Given the description of an element on the screen output the (x, y) to click on. 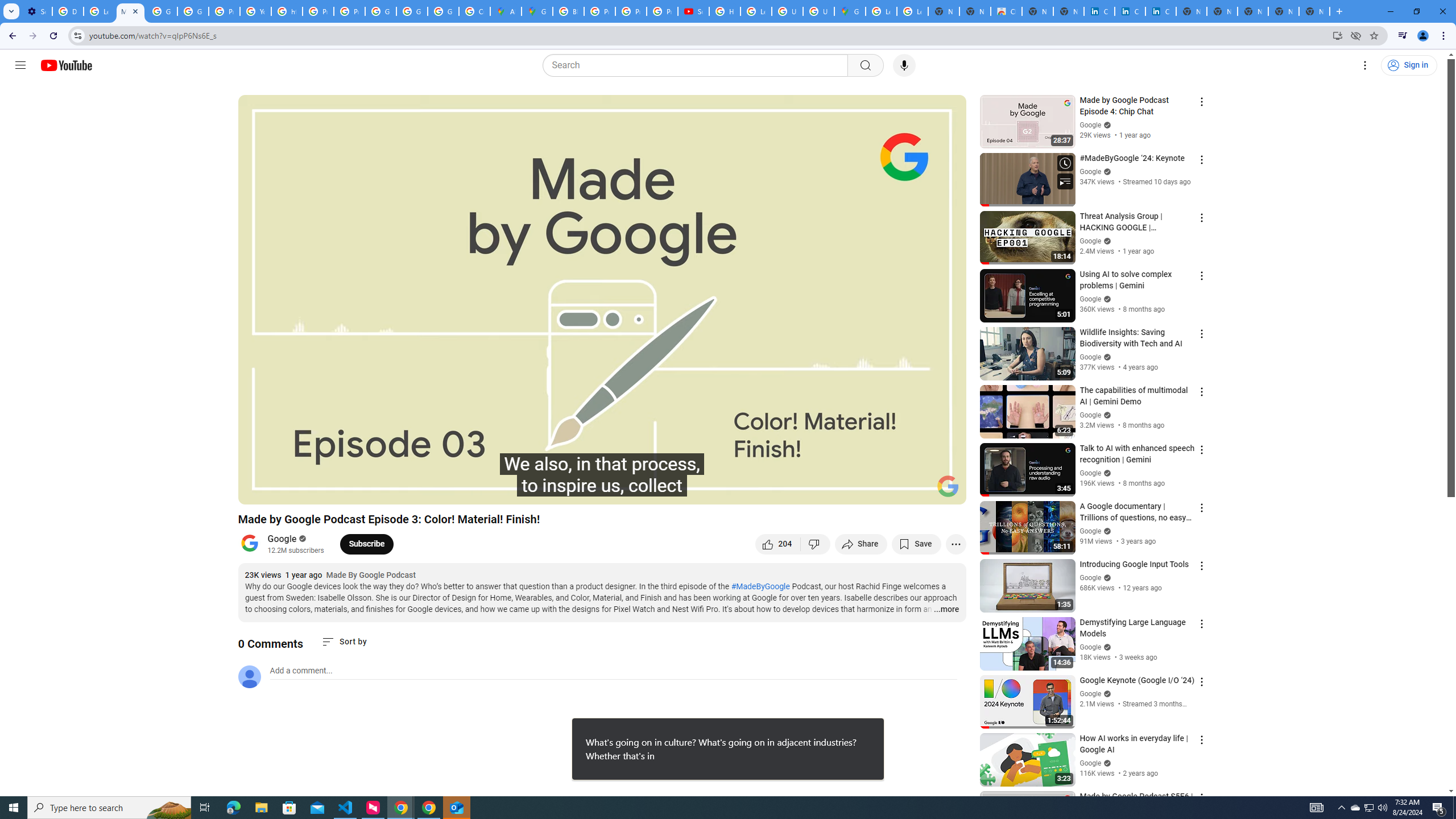
Miniplayer (i) (890, 490)
Save to playlist (915, 543)
Subscribe to Google. (366, 543)
